Given the description of an element on the screen output the (x, y) to click on. 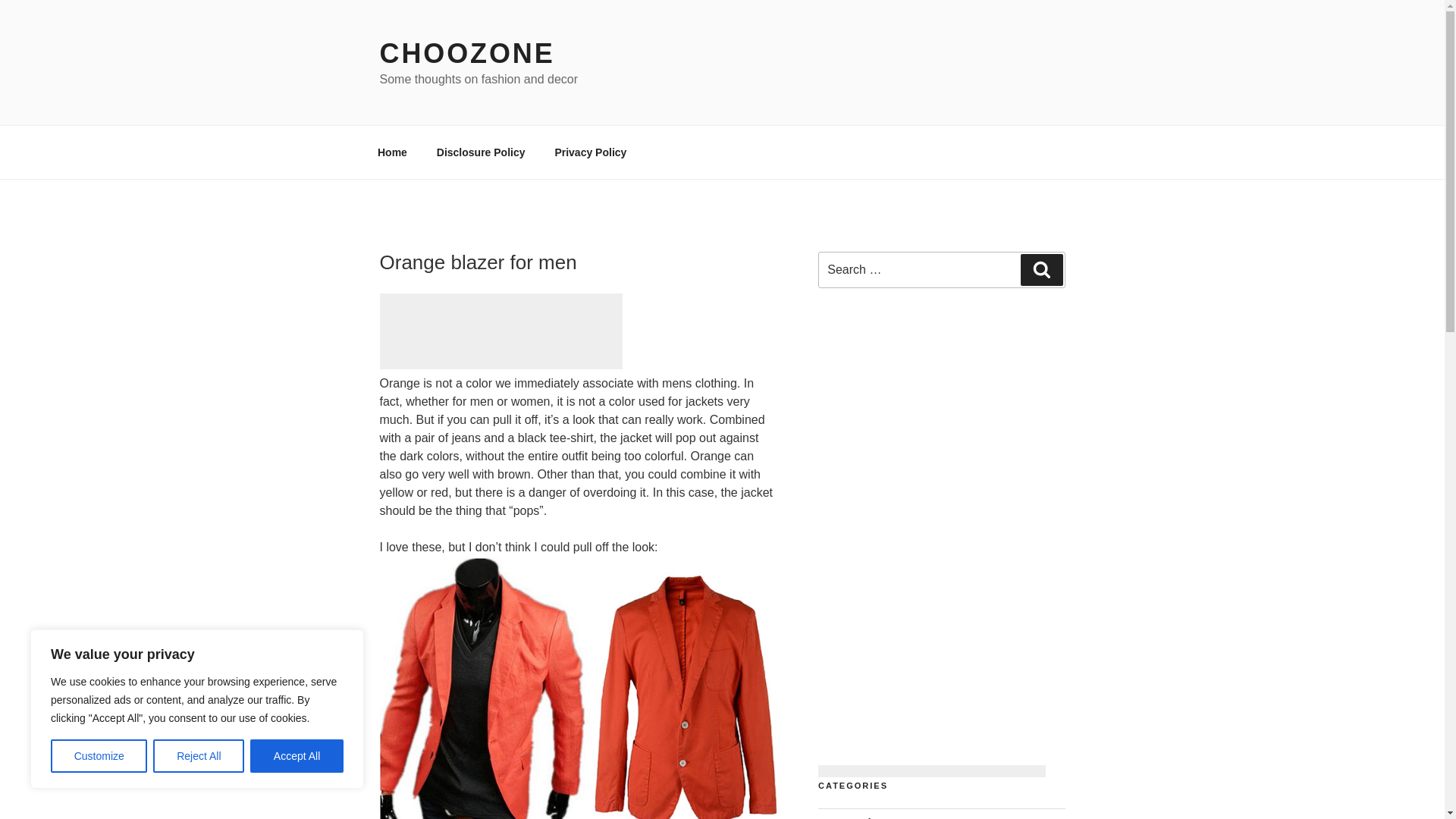
Search (1041, 269)
Accept All (296, 756)
Privacy Policy (590, 151)
Advertisement (499, 331)
Home (392, 151)
Customize (98, 756)
Disclosure Policy (480, 151)
CHOOZONE (466, 52)
Reject All (198, 756)
